Given the description of an element on the screen output the (x, y) to click on. 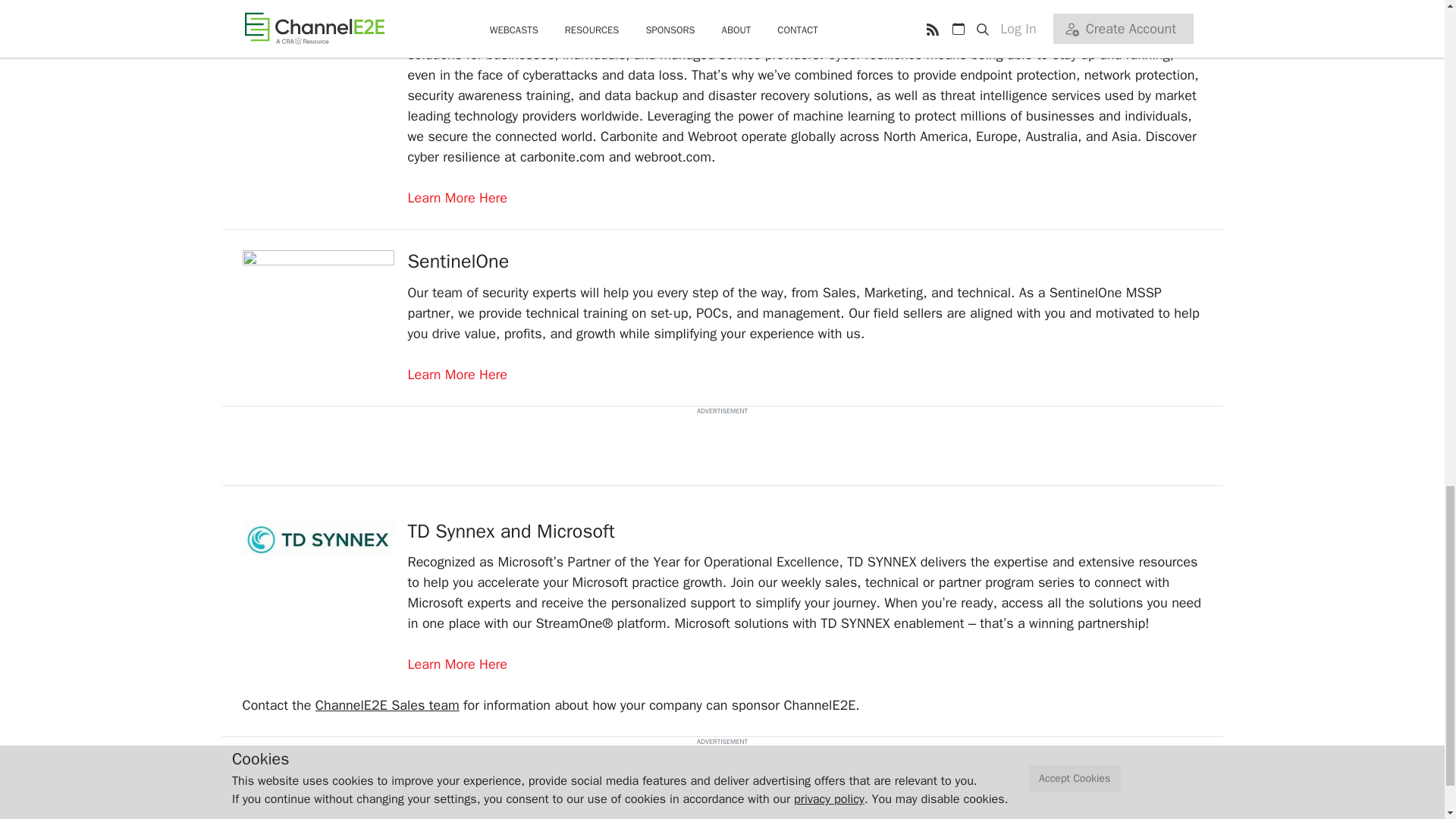
Learn More Here (457, 374)
Learn More Here (457, 664)
ChannelE2E Sales team (387, 704)
3rd party ad content (721, 781)
3rd party ad content (721, 450)
Learn More Here (457, 197)
